Given the description of an element on the screen output the (x, y) to click on. 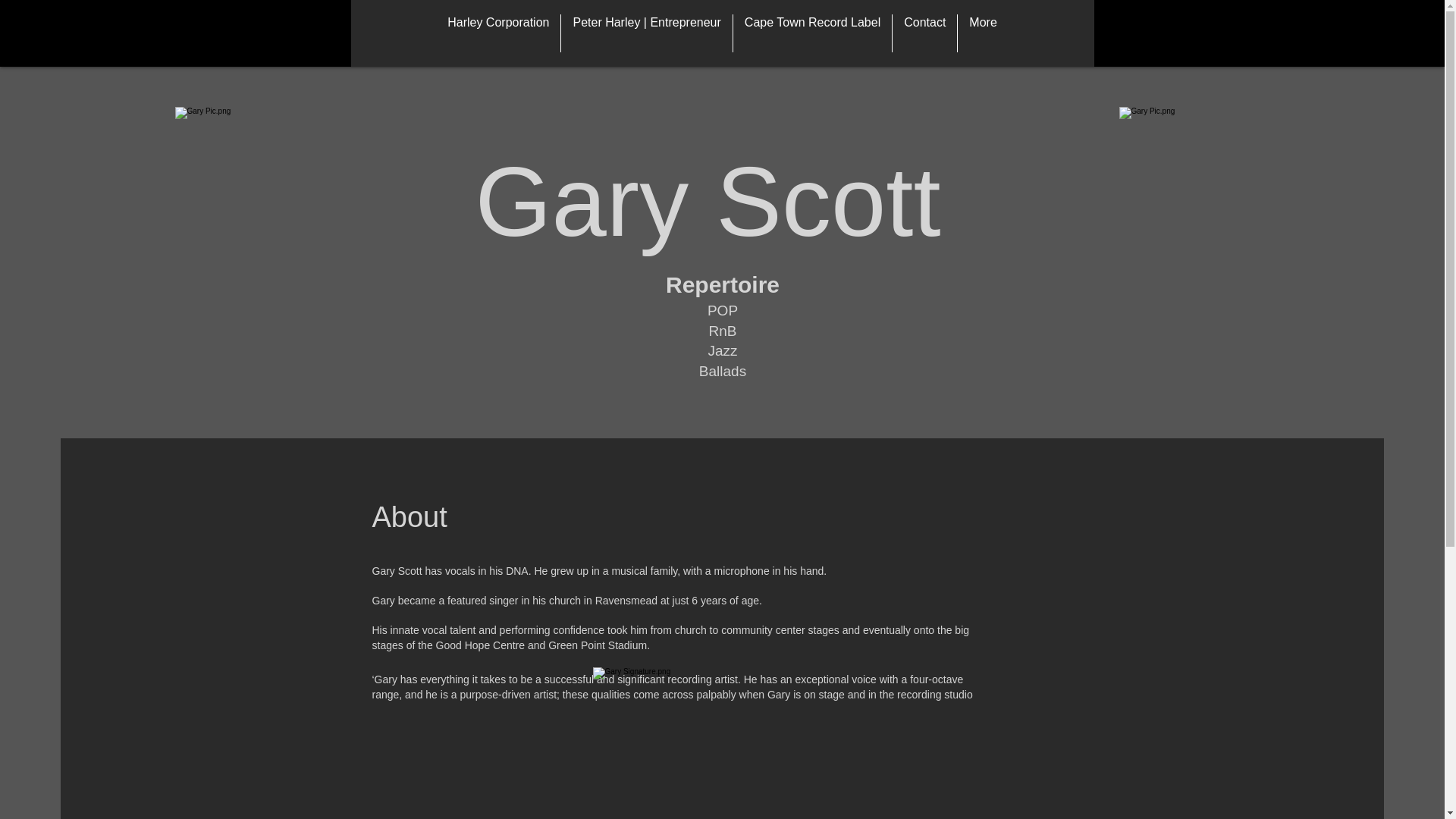
Cape Town Record Label (812, 33)
Contact (924, 33)
Harley Corporation (497, 33)
